Given the description of an element on the screen output the (x, y) to click on. 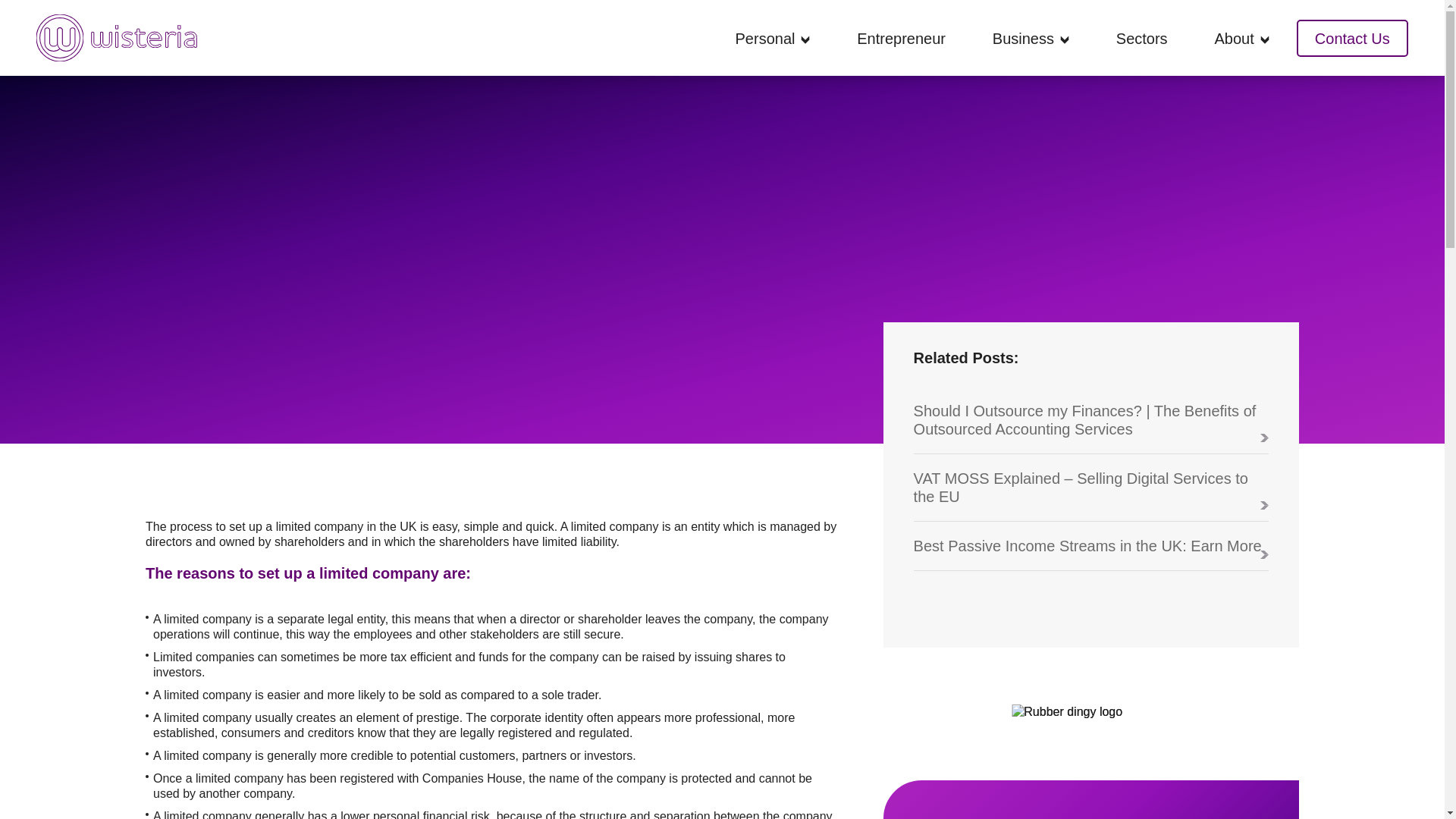
Contact Us (1352, 37)
Best Passive Income Streams in the UK: Earn More (1091, 553)
About (1233, 38)
Personal (764, 38)
Entrepreneur (900, 38)
Business (1023, 38)
Sectors (1141, 38)
